Given the description of an element on the screen output the (x, y) to click on. 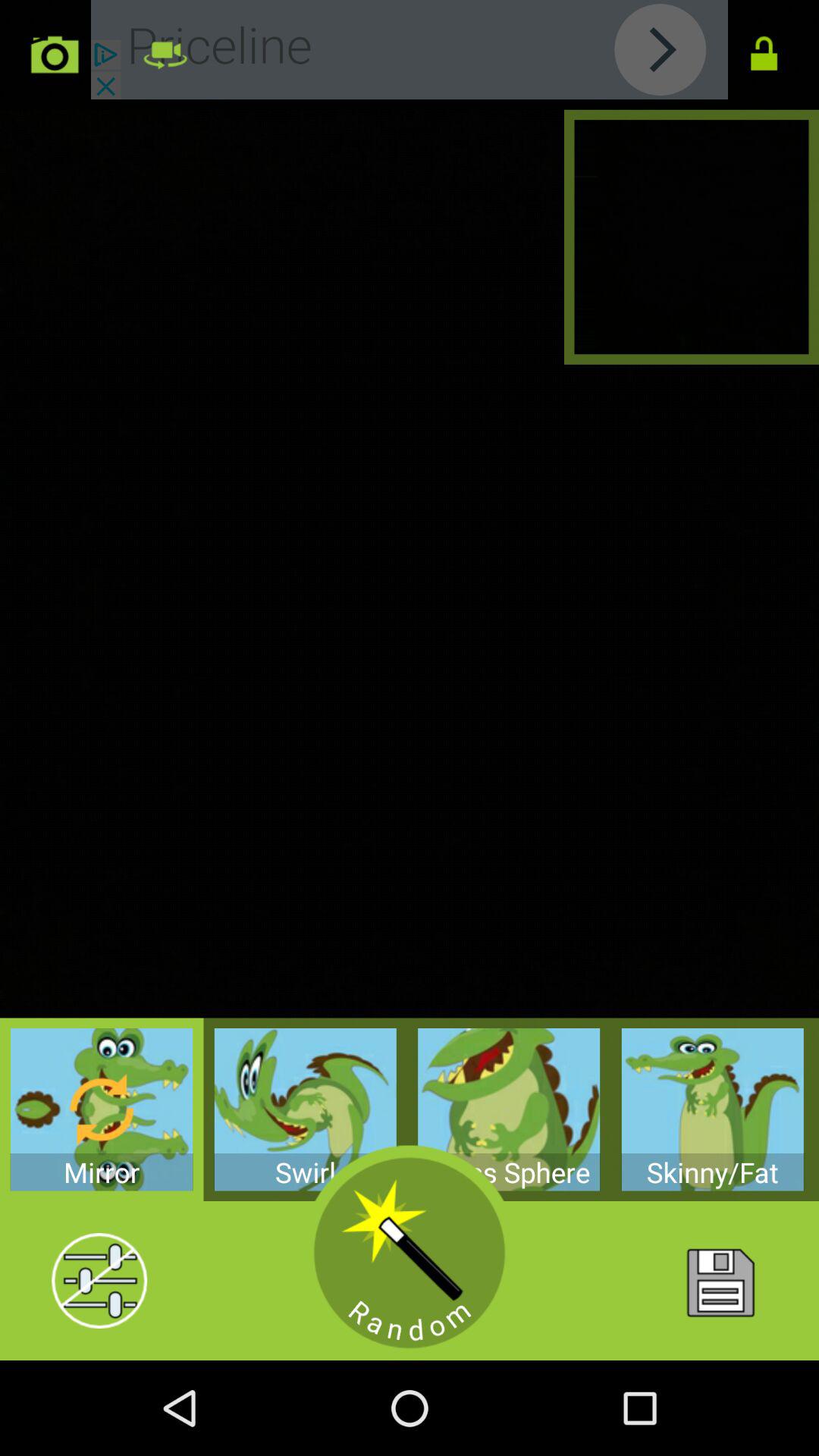
options menu (99, 1280)
